Given the description of an element on the screen output the (x, y) to click on. 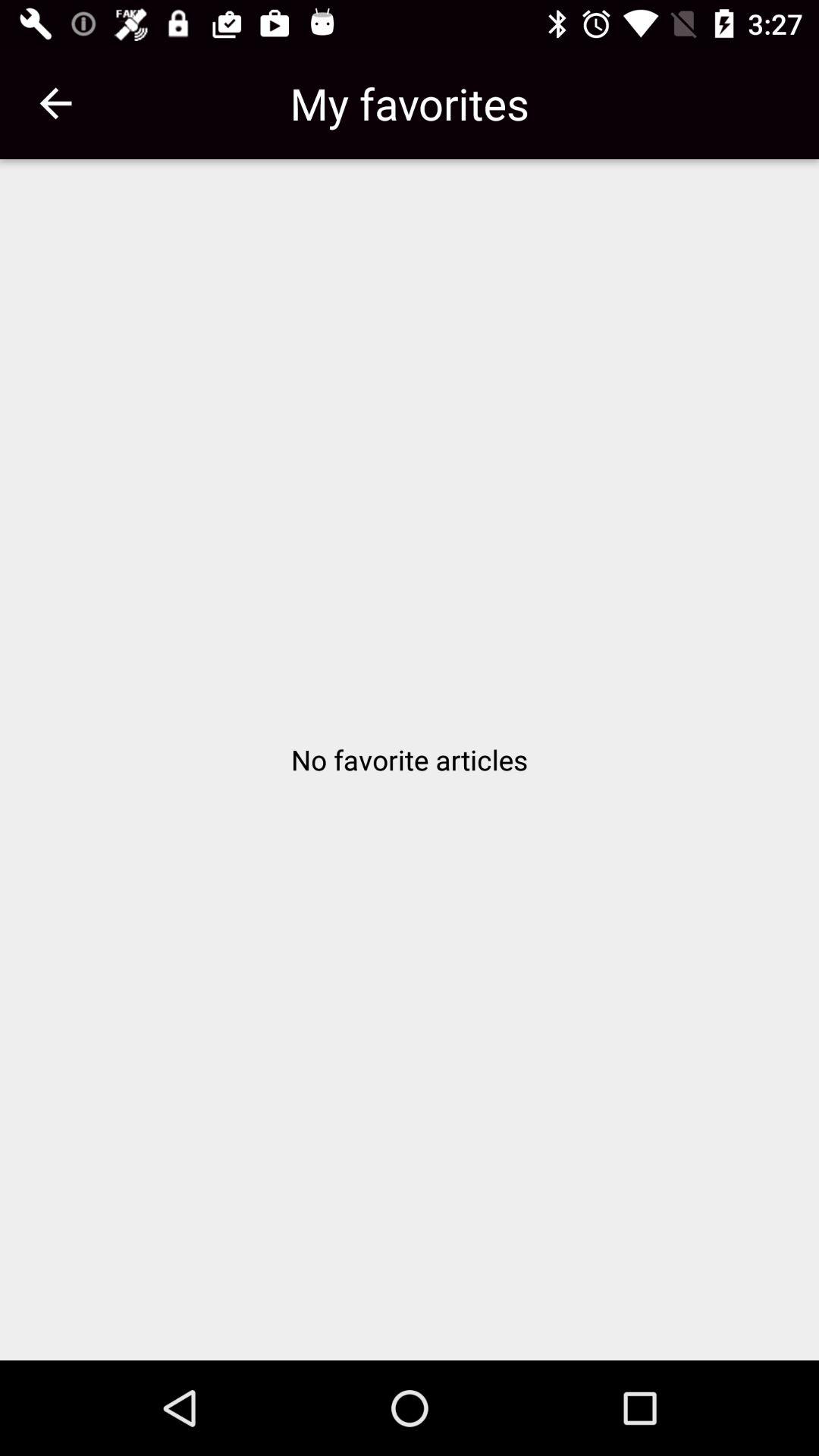
launch the item to the left of the my favorites (55, 103)
